Given the description of an element on the screen output the (x, y) to click on. 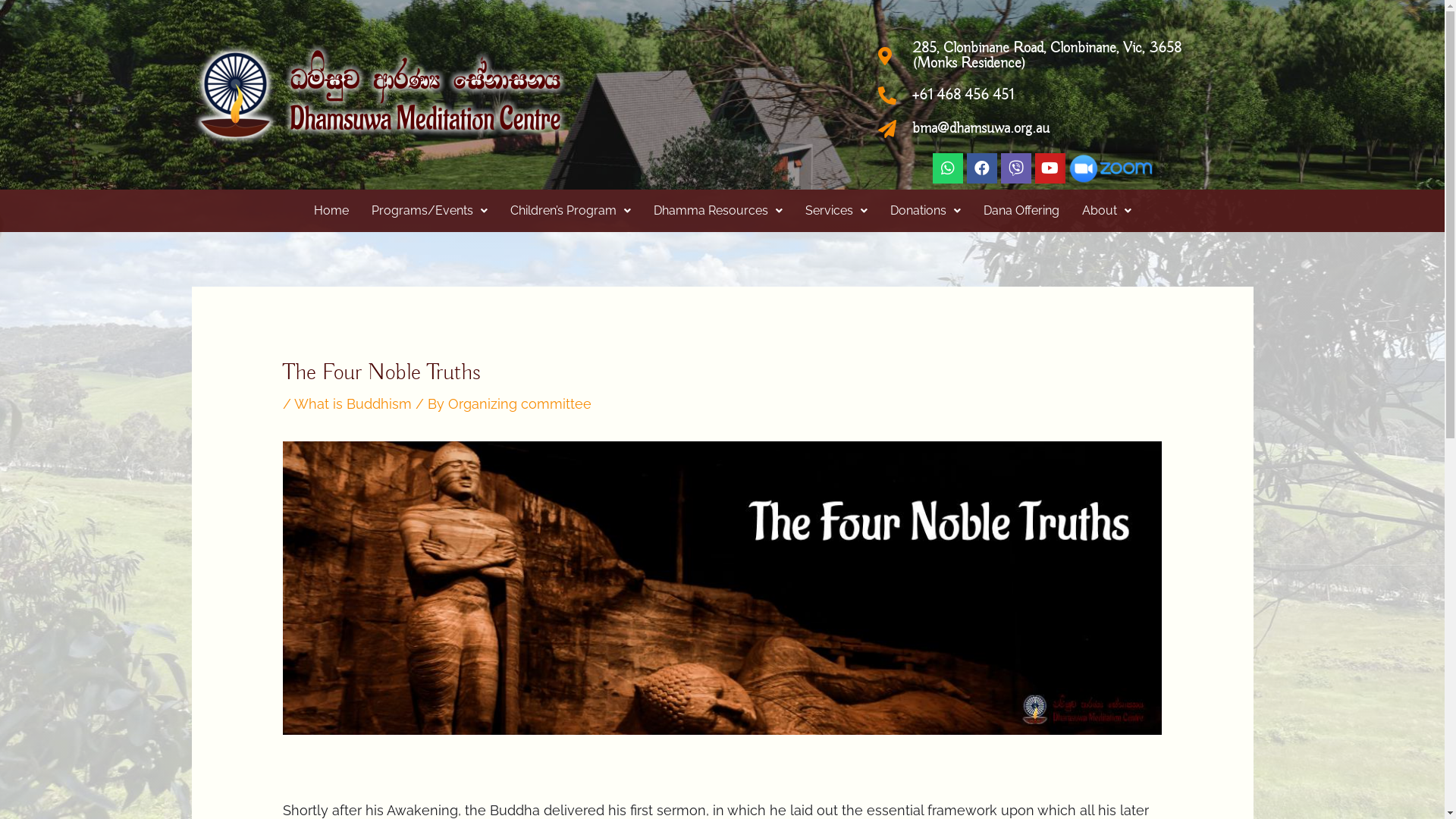
zoom_log side x50 Element type: hover (1110, 168)
Home Element type: text (330, 210)
What is Buddhism Element type: text (352, 403)
Dhamma Resources Element type: text (717, 210)
Whatsapp Element type: text (947, 168)
bma@dhamsuwa.org.au Element type: text (1065, 128)
Youtube Element type: text (1050, 168)
+61 468 456 451 Element type: text (1065, 95)
Organizing committee Element type: text (519, 403)
Donations Element type: text (924, 210)
Viber Element type: text (1016, 168)
Programs/Events Element type: text (428, 210)
Dana Offering Element type: text (1021, 210)
Services Element type: text (835, 210)
Facebook Element type: text (981, 168)
About Element type: text (1106, 210)
